Given the description of an element on the screen output the (x, y) to click on. 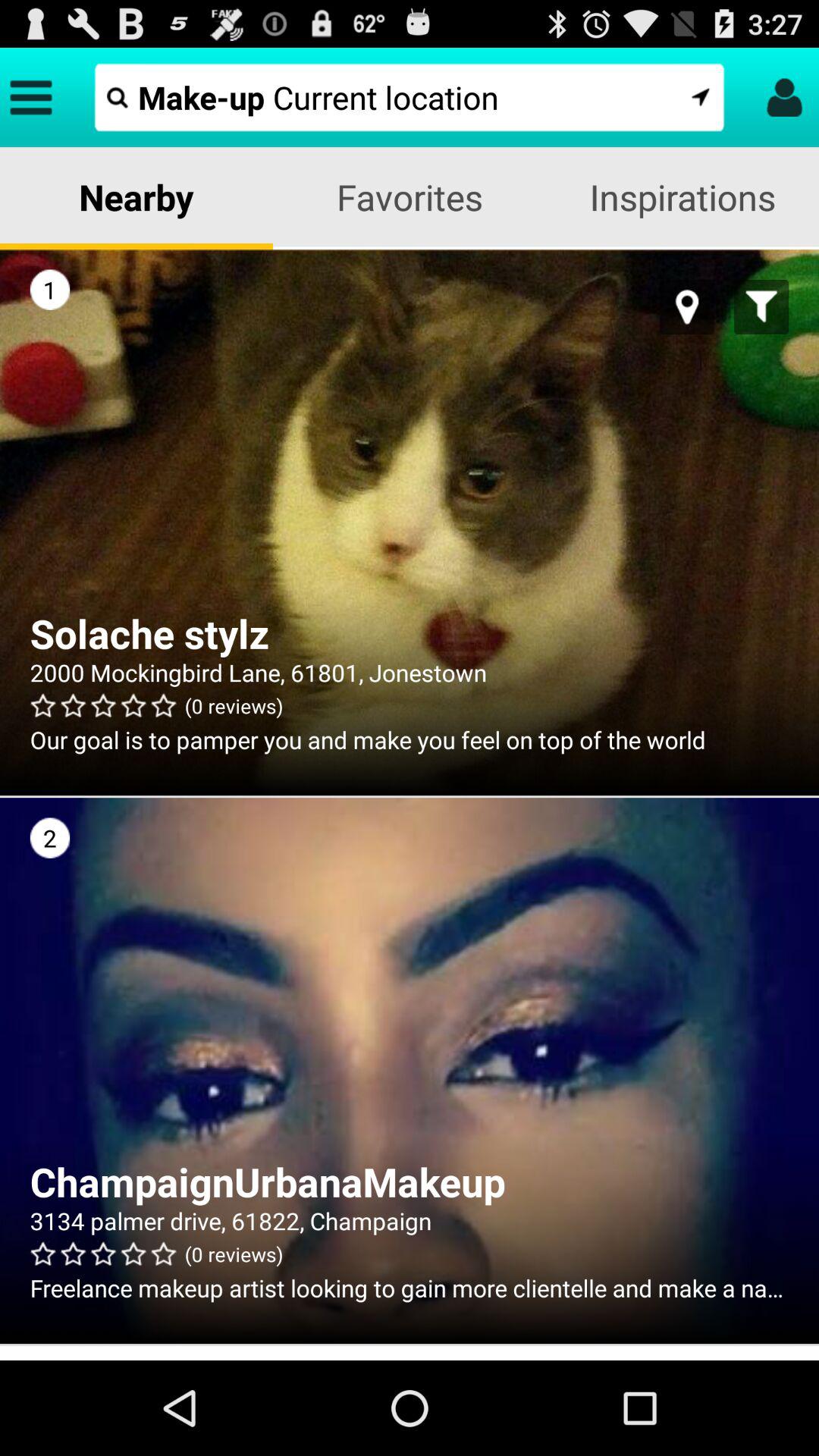
scroll to freelance makeup artist icon (409, 1287)
